Given the description of an element on the screen output the (x, y) to click on. 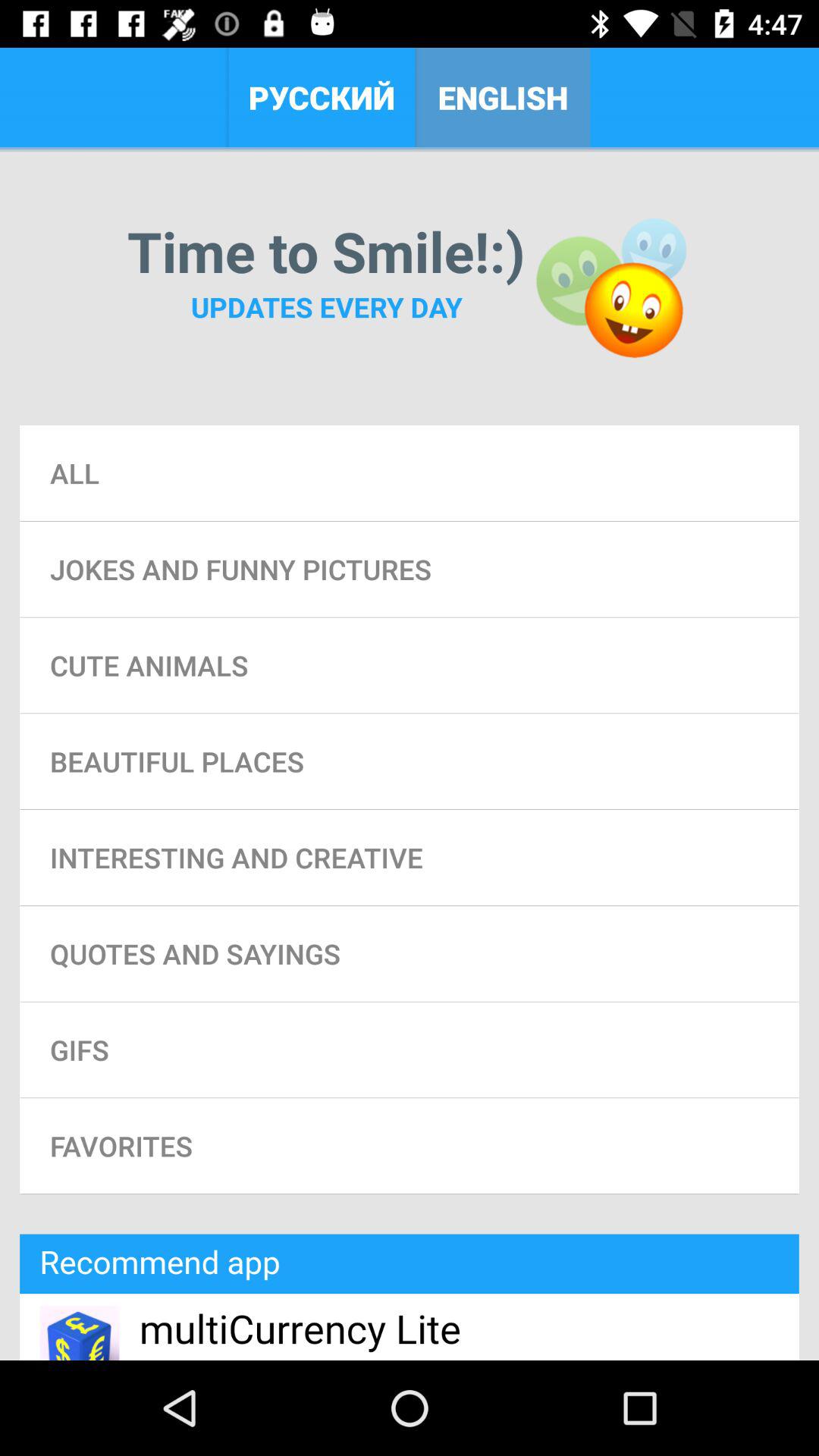
turn on the item above the quotes and sayings (409, 857)
